Given the description of an element on the screen output the (x, y) to click on. 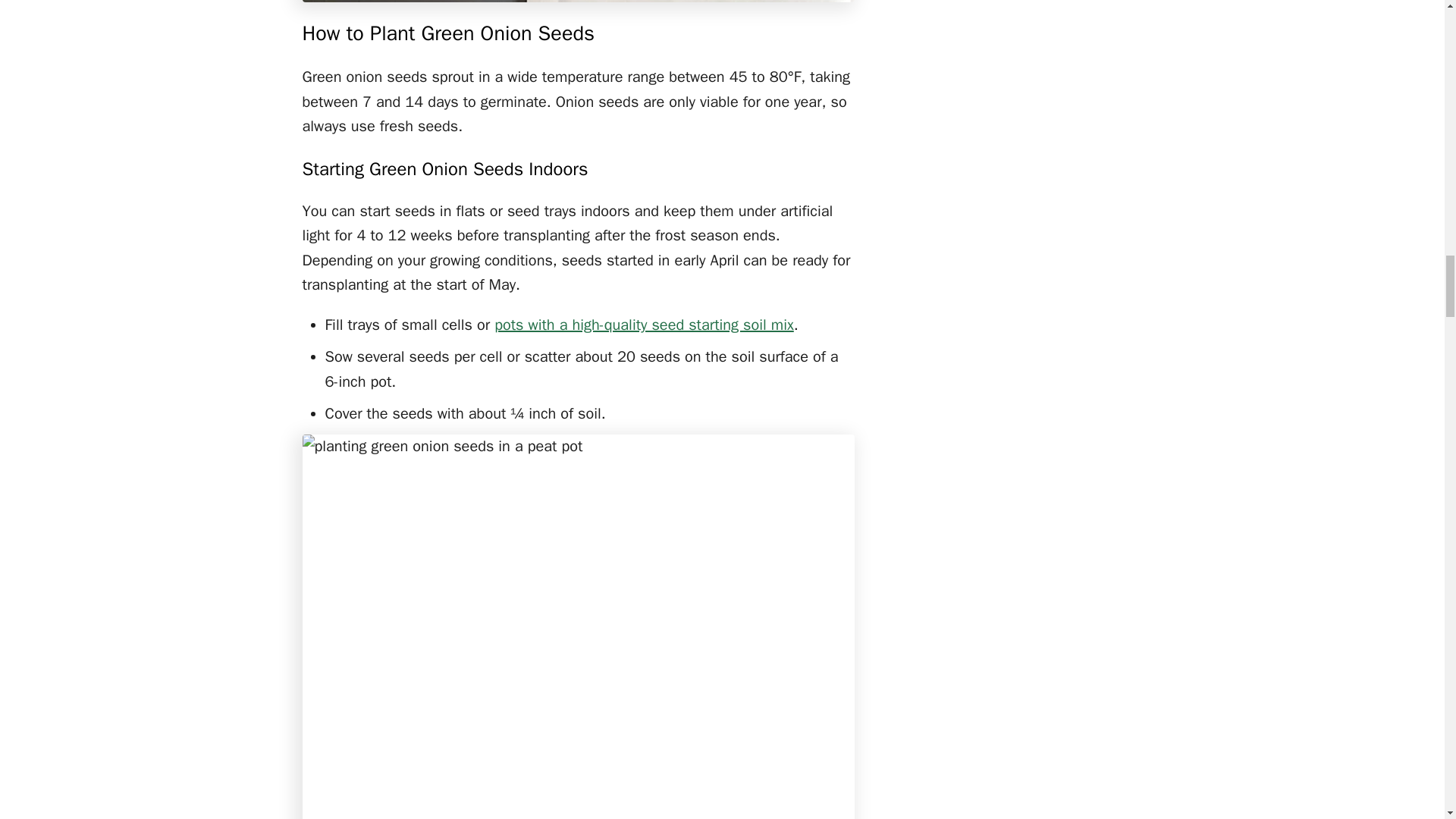
pots with a high-quality seed starting soil mix (644, 324)
